Given the description of an element on the screen output the (x, y) to click on. 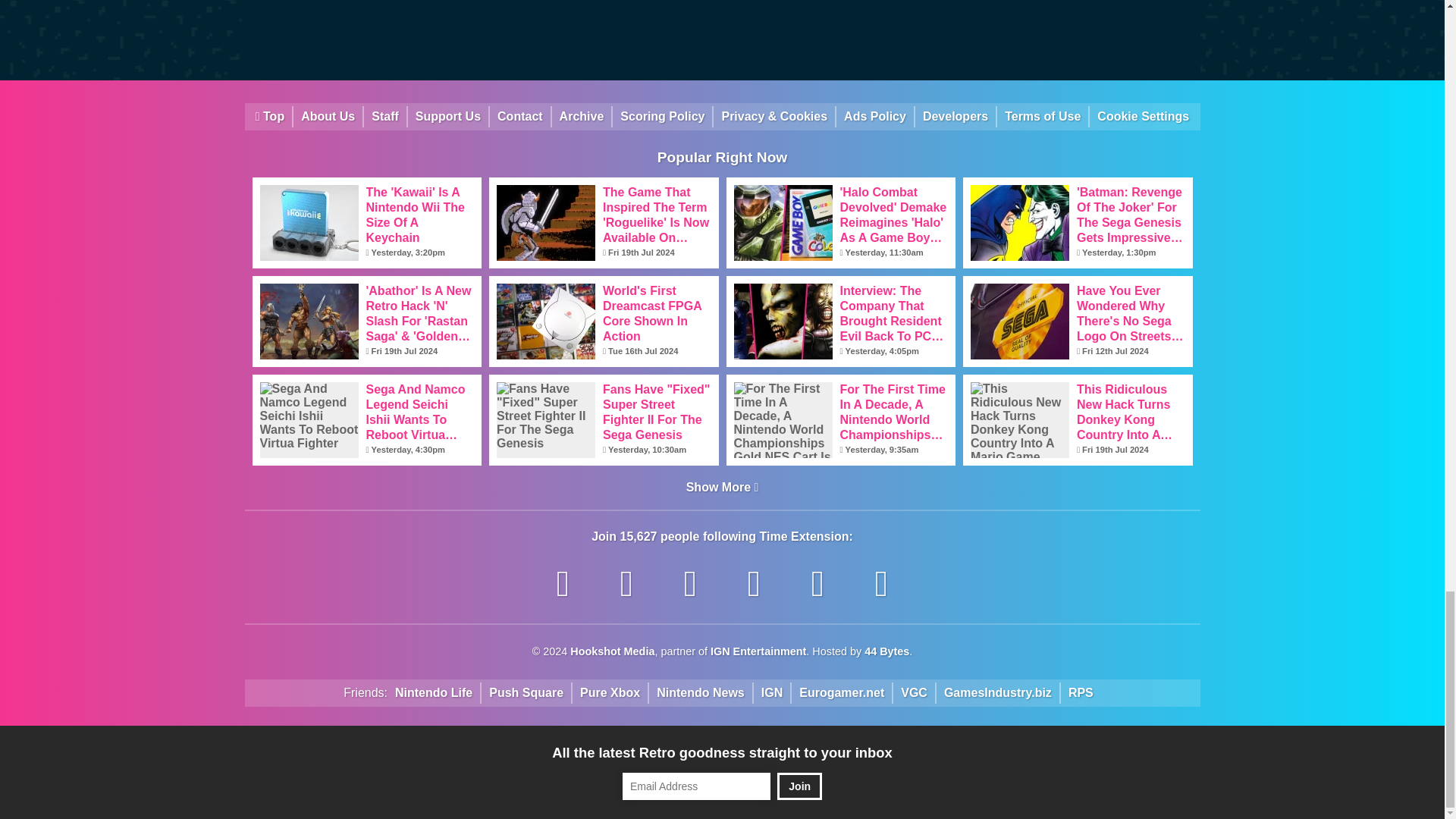
Join (799, 786)
